Given the description of an element on the screen output the (x, y) to click on. 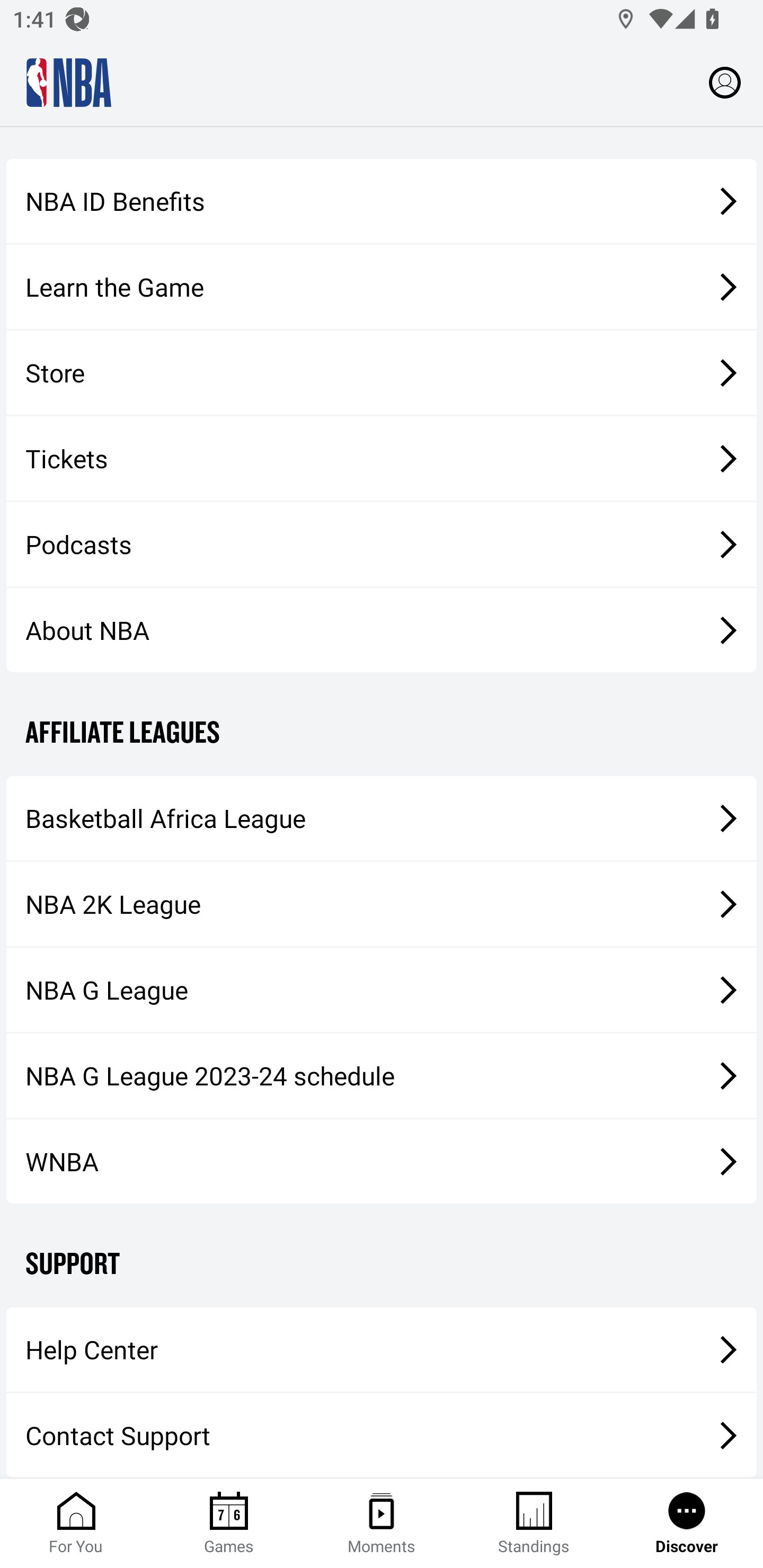
Profile (724, 81)
NBA ID Benefits (381, 200)
Learn the Game (381, 286)
Store (381, 372)
Tickets (381, 458)
Podcasts (381, 543)
About NBA (381, 630)
Basketball Africa League (381, 818)
NBA 2K League (381, 903)
NBA G League (381, 989)
NBA G League 2023-24 schedule (381, 1075)
WNBA (381, 1161)
Help Center (381, 1349)
Contact Support (381, 1435)
For You (76, 1523)
Games (228, 1523)
Moments (381, 1523)
Standings (533, 1523)
